Given the description of an element on the screen output the (x, y) to click on. 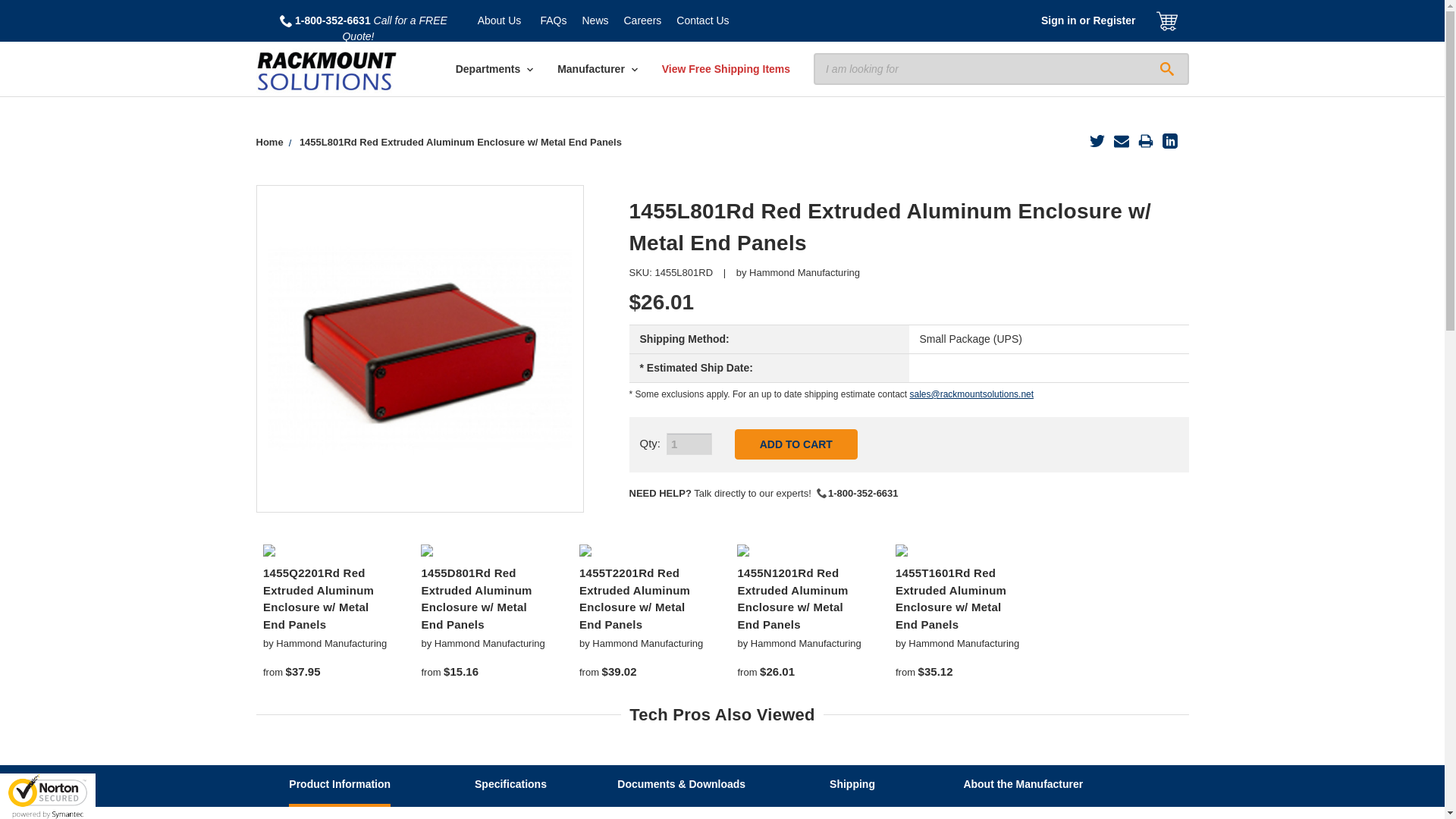
Departments (494, 69)
Add to Cart (796, 444)
News (594, 20)
1 (688, 444)
1-800-352-6631 Call for a FREE Quote! (362, 28)
About Us (499, 20)
Rackmount Solutions (326, 71)
FAQs (552, 20)
Careers (641, 20)
Contact Us (702, 20)
Register (1113, 20)
Sign in (1058, 20)
